Given the description of an element on the screen output the (x, y) to click on. 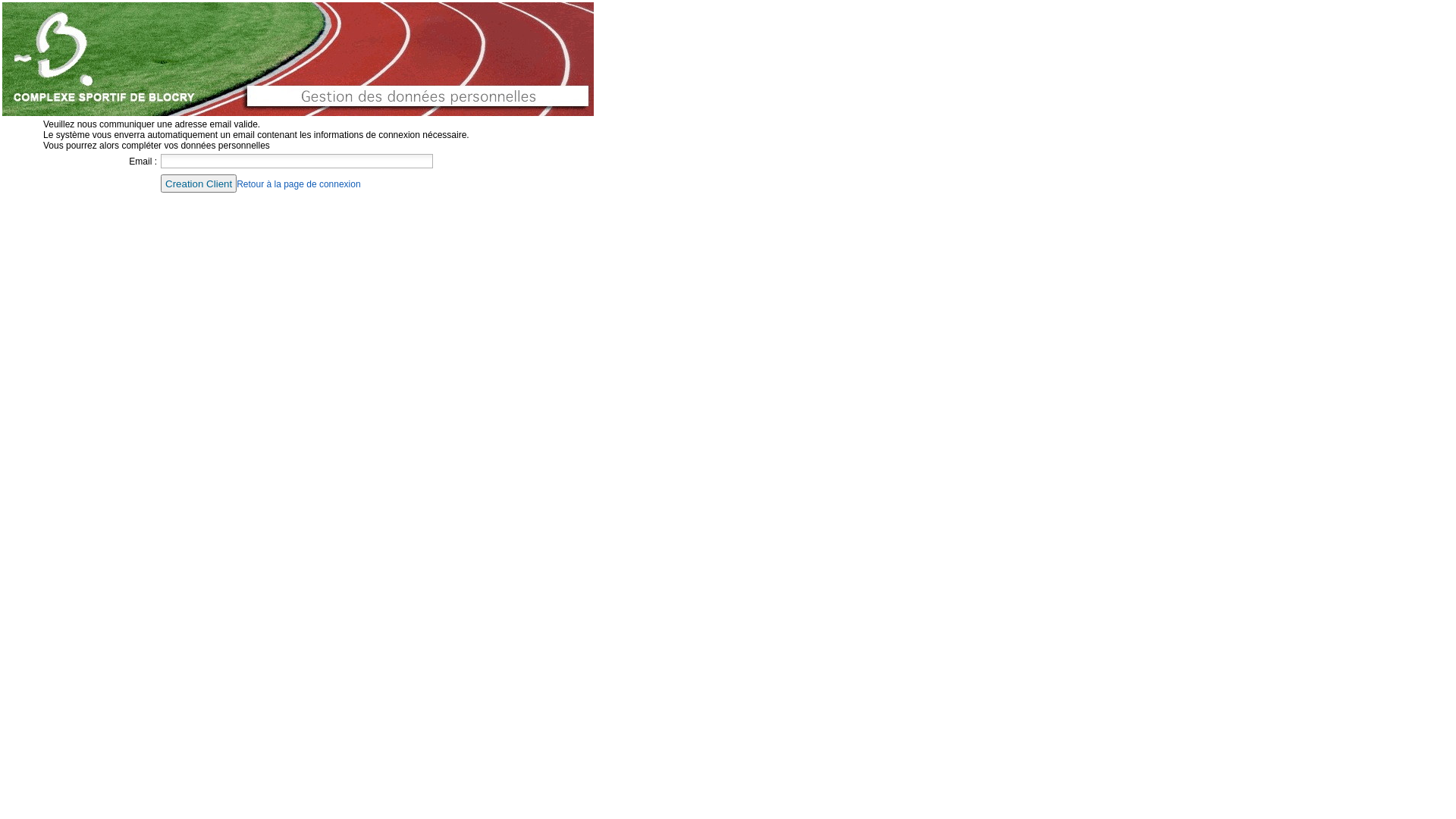
Creation Client Element type: text (198, 183)
